Given the description of an element on the screen output the (x, y) to click on. 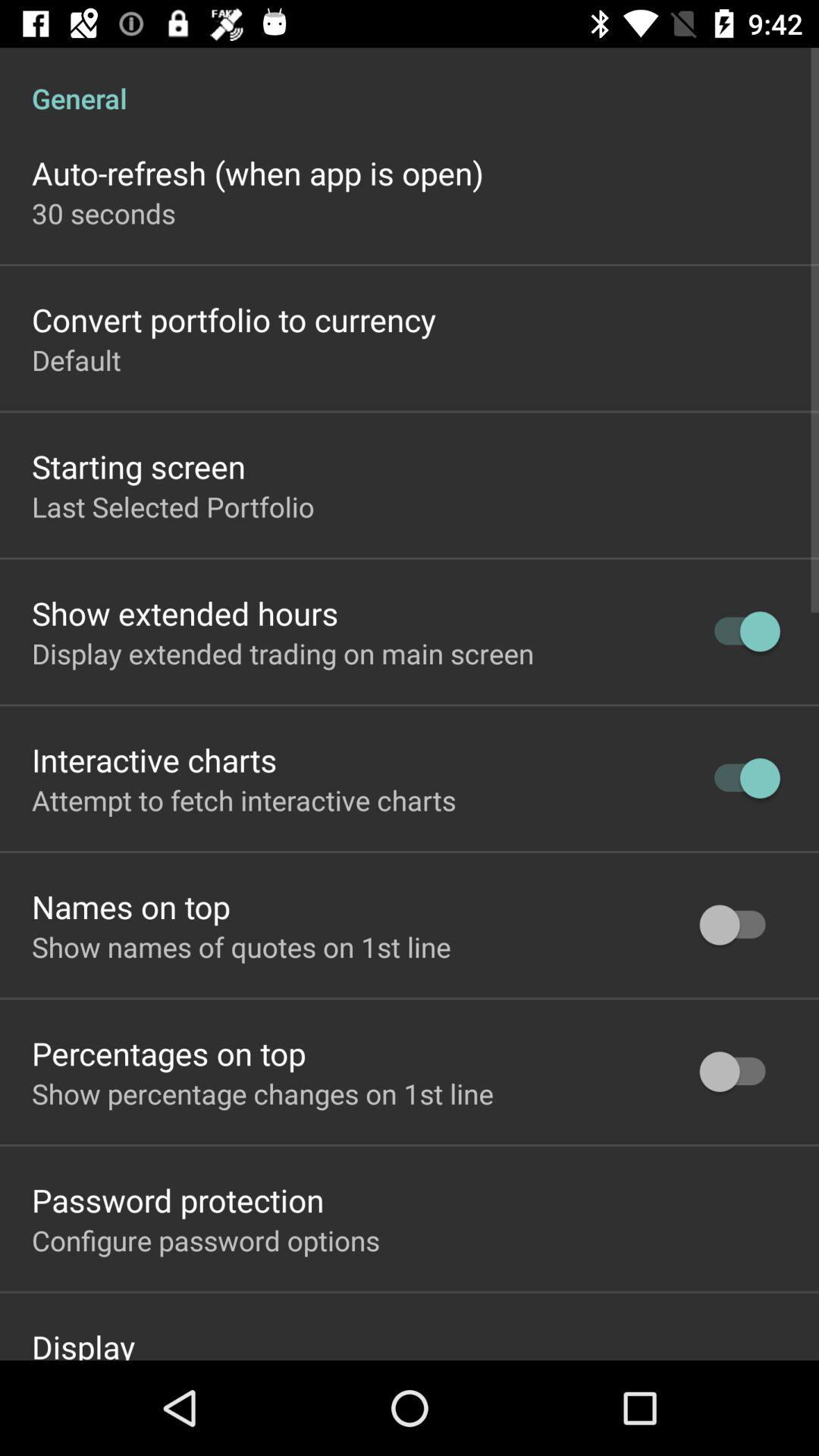
choose the item above 30 seconds item (257, 172)
